Given the description of an element on the screen output the (x, y) to click on. 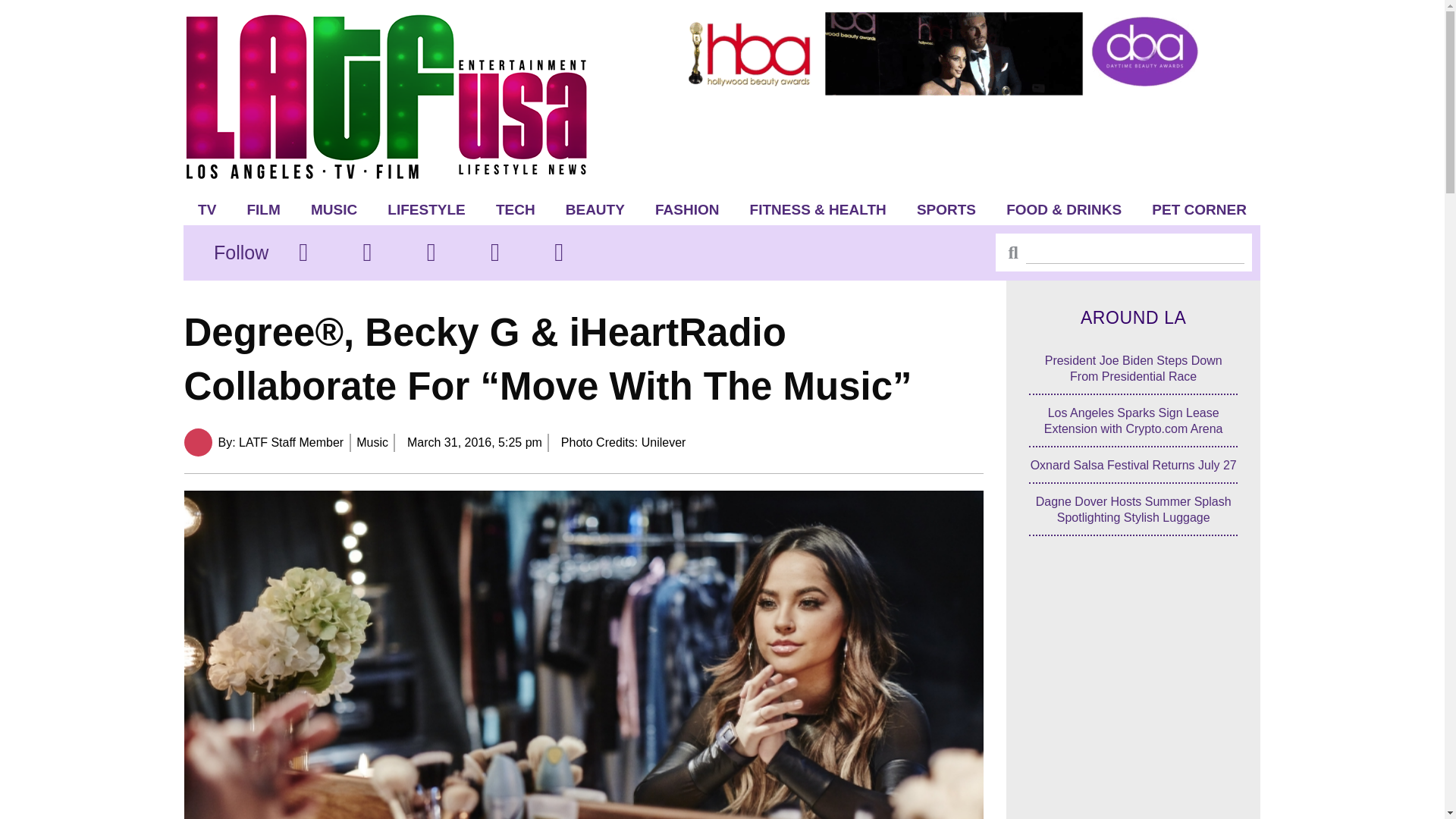
BEAUTY (595, 209)
SPORTS (946, 209)
MUSIC (333, 209)
LIFESTYLE (426, 209)
FILM (263, 209)
PET CORNER (1199, 209)
FASHION (687, 209)
TV (207, 209)
TECH (515, 209)
